Given the description of an element on the screen output the (x, y) to click on. 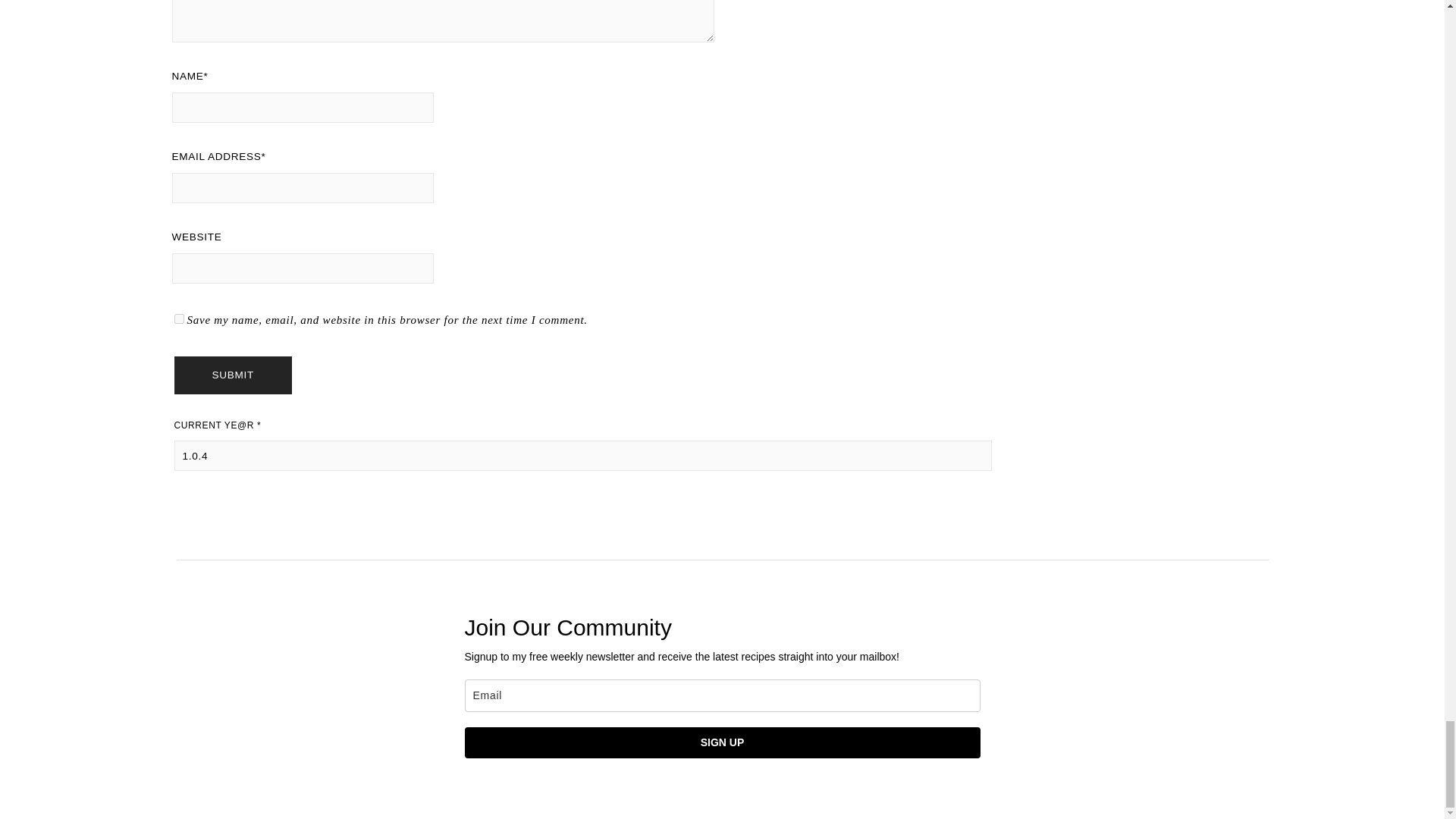
1.0.4 (583, 455)
yes (179, 318)
Submit (233, 374)
